Given the description of an element on the screen output the (x, y) to click on. 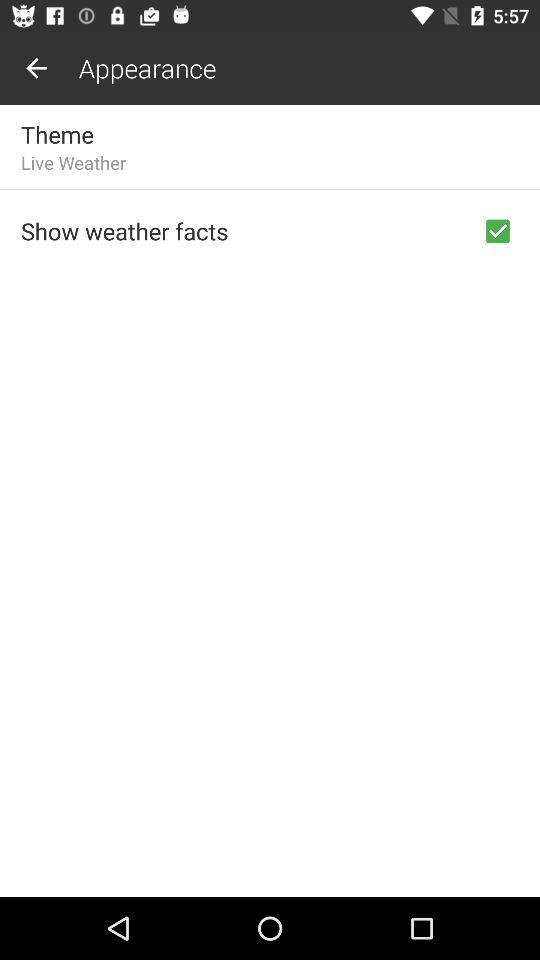
tap the item above the theme item (36, 68)
